Given the description of an element on the screen output the (x, y) to click on. 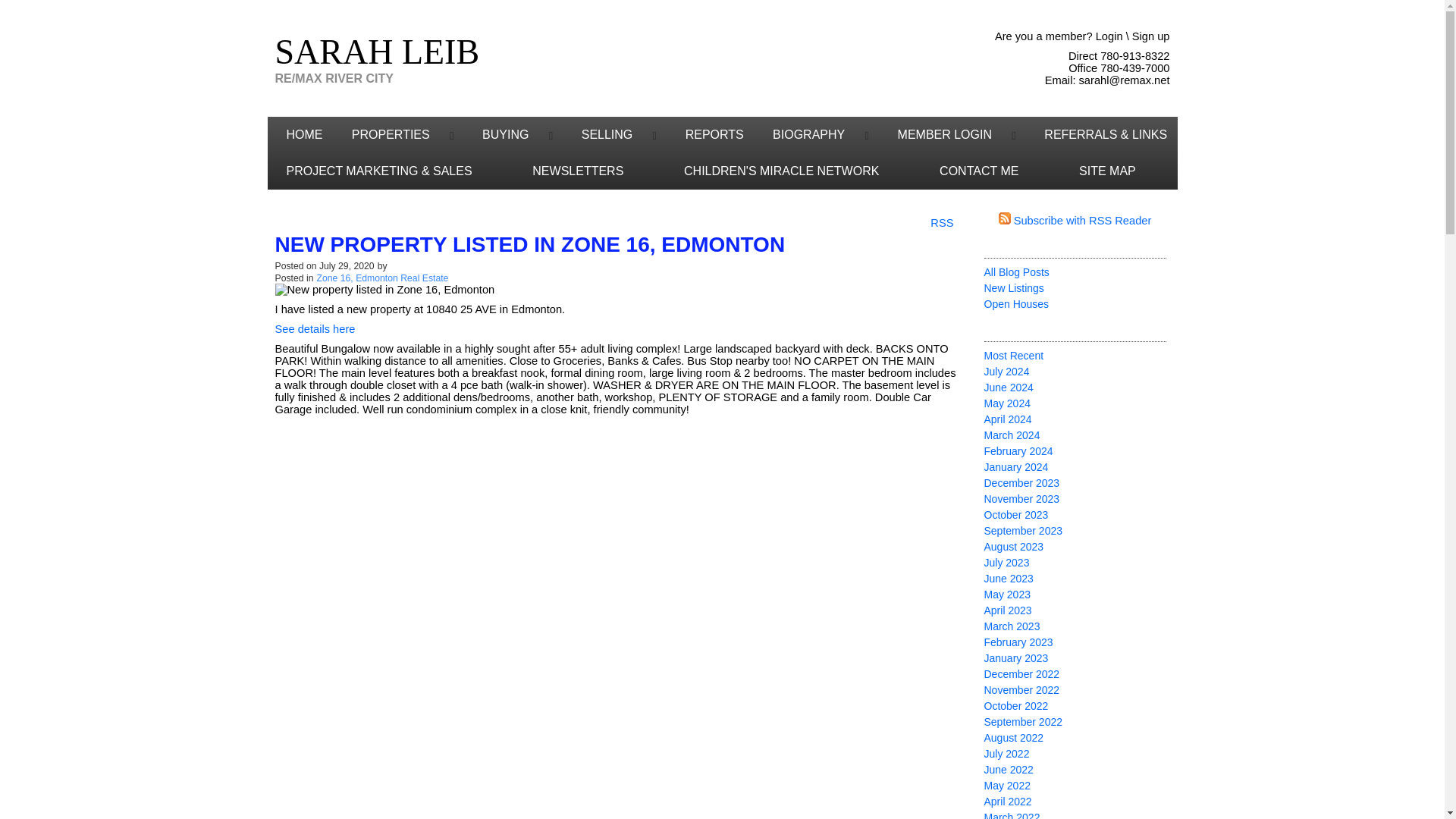
Login (1109, 36)
CHILDREN'S MIRACLE NETWORK (792, 171)
SELLING (599, 135)
MEMBER LOGIN (937, 135)
SITE MAP (1117, 171)
PROPERTIES (383, 135)
All Blog Posts (1016, 272)
HOME (298, 135)
New Listings (1013, 287)
CONTACT ME (989, 171)
